Given the description of an element on the screen output the (x, y) to click on. 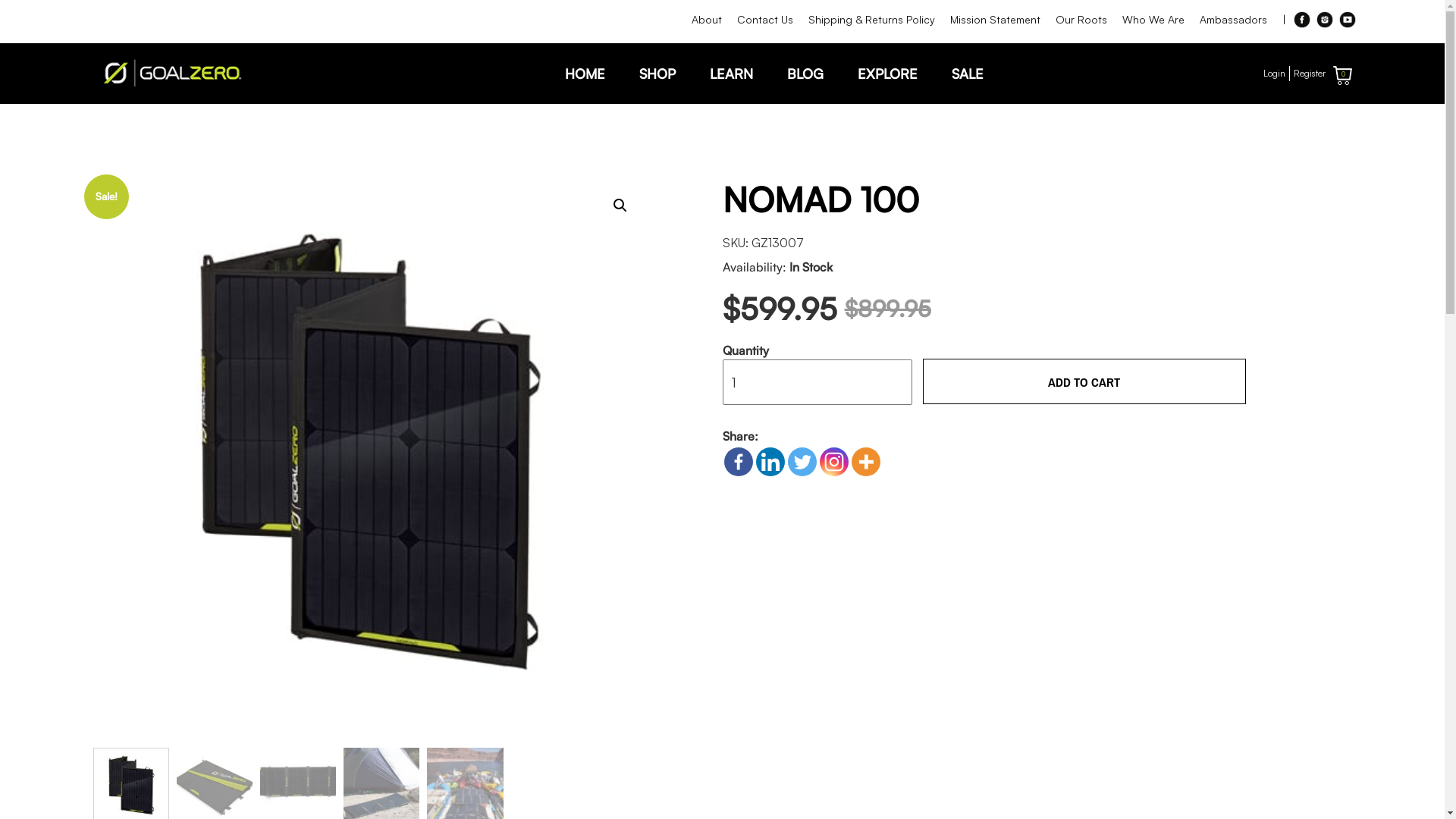
Facebook Element type: text (1301, 19)
Nomad-100-Soldier Element type: hover (367, 458)
Contact Us Element type: text (764, 19)
HOME Element type: text (584, 73)
Who We Are Element type: text (1153, 19)
| Element type: text (1283, 19)
LEARN Element type: text (731, 73)
Shipping & Returns Policy Element type: text (871, 19)
About Element type: text (706, 19)
Instagram Element type: text (1324, 19)
Instagram Element type: hover (833, 461)
0 Element type: text (1342, 74)
More Element type: hover (864, 461)
Register Element type: text (1309, 73)
Mission Statement Element type: text (994, 19)
Ambassadors Element type: text (1233, 19)
Facebook Element type: hover (737, 461)
EXPLORE Element type: text (886, 73)
ADD TO CART Element type: text (1083, 381)
SHOP Element type: text (656, 73)
BLOG Element type: text (804, 73)
Twitter Element type: hover (801, 461)
Our Roots Element type: text (1081, 19)
Linkedin Element type: hover (769, 461)
Login Element type: text (1274, 73)
You Tube Element type: text (1347, 19)
Qty Element type: hover (816, 381)
SALE Element type: text (966, 73)
